Given the description of an element on the screen output the (x, y) to click on. 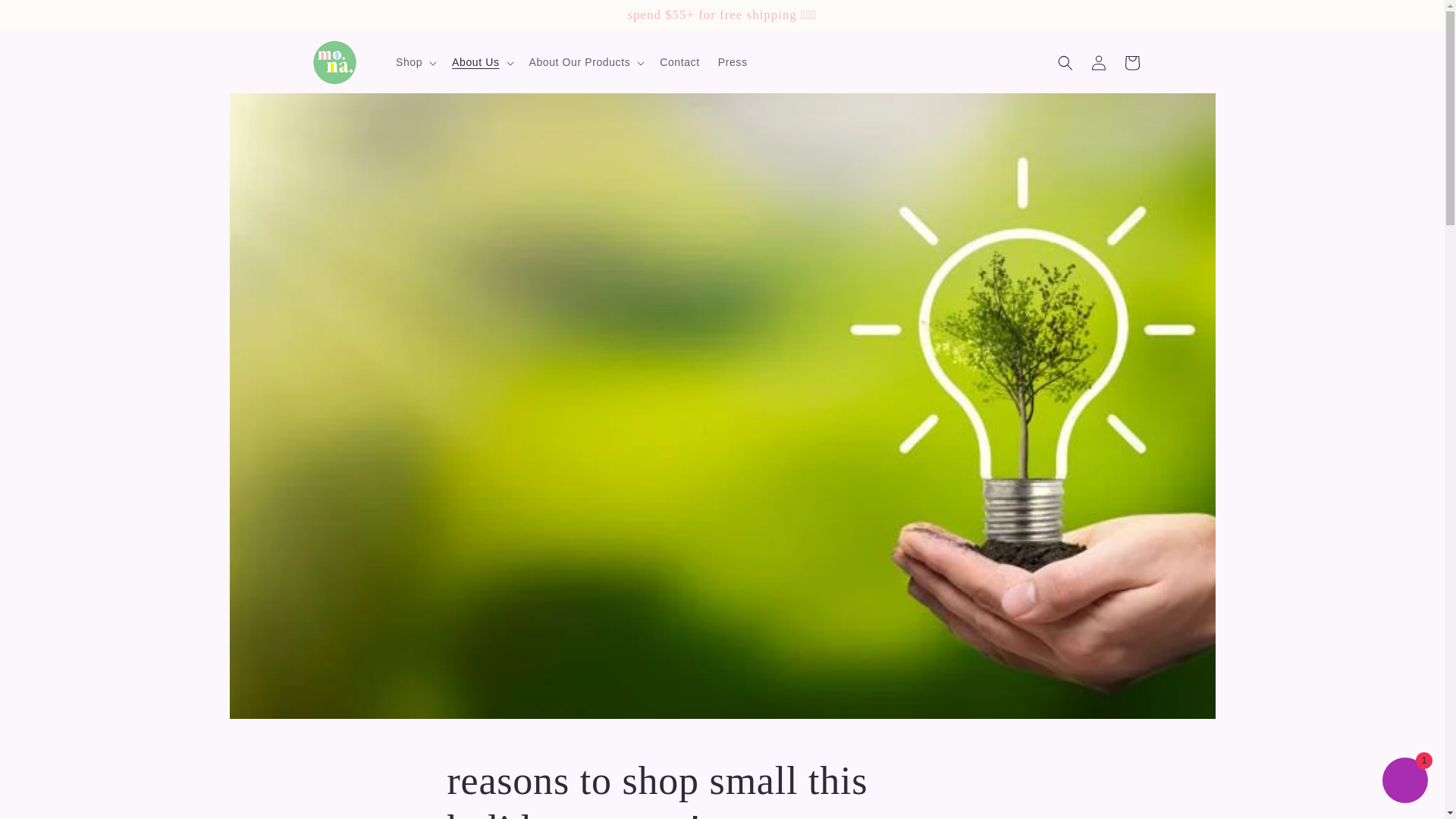
Contact (678, 61)
Press (733, 61)
